Given the description of an element on the screen output the (x, y) to click on. 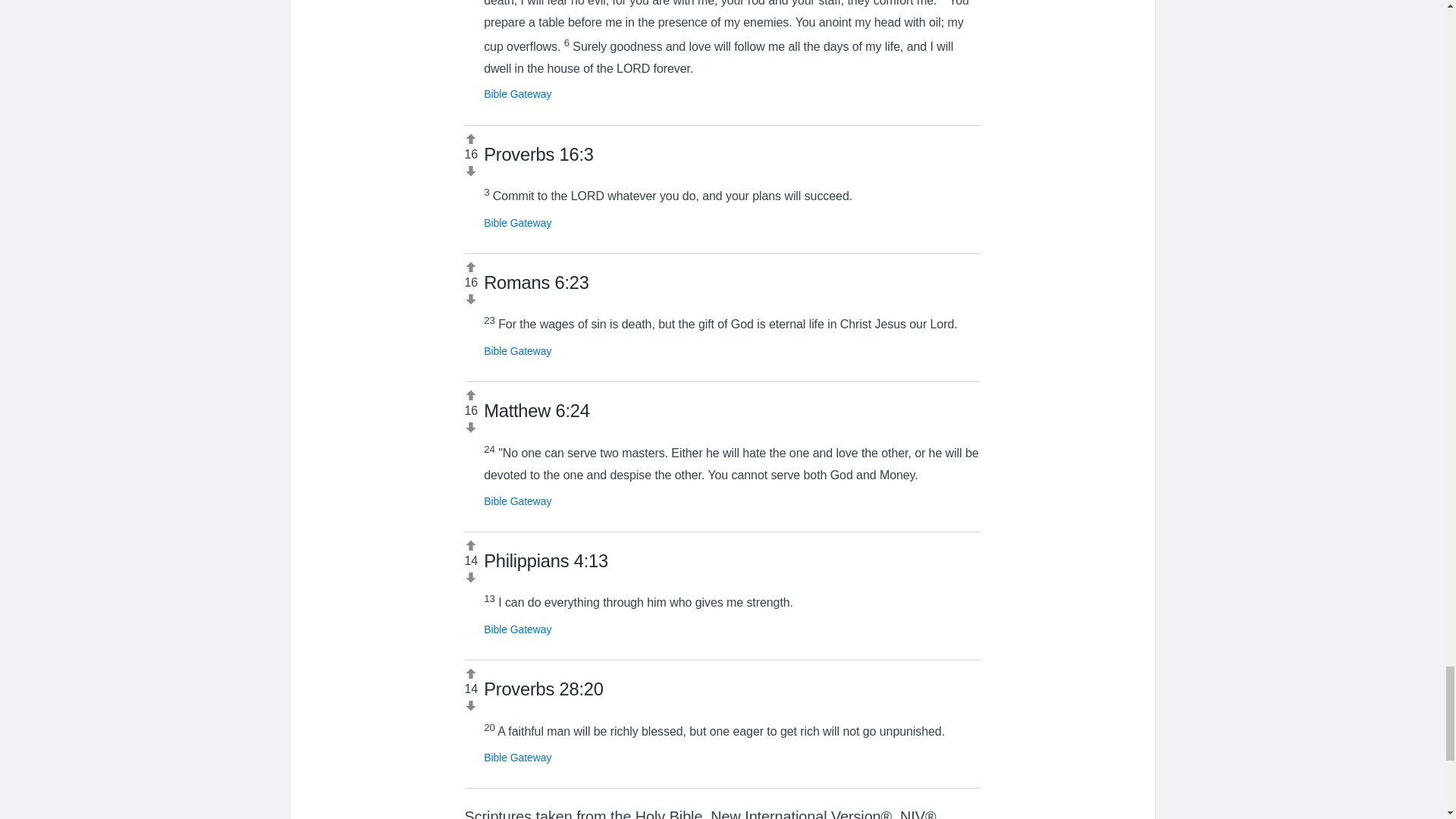
Bible Gateway (517, 757)
Bible Gateway (517, 93)
Bible Gateway (517, 350)
Bible Gateway (517, 629)
Bible Gateway (517, 223)
Bible Gateway (517, 500)
